Given the description of an element on the screen output the (x, y) to click on. 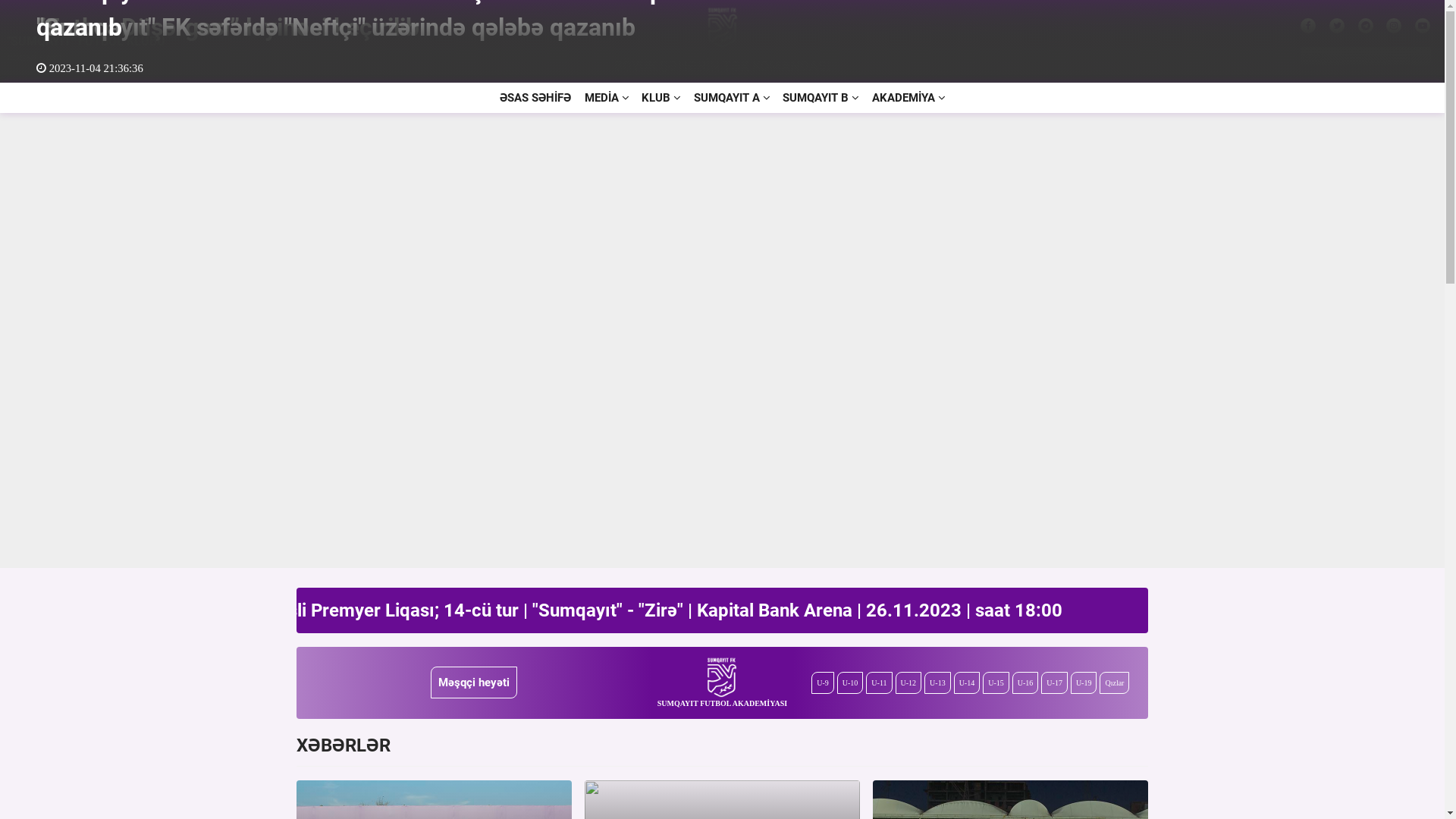
U-15 Element type: text (995, 682)
U-13 Element type: text (937, 682)
KLUB Element type: text (660, 97)
U-12 Element type: text (908, 682)
U-16 Element type: text (1025, 682)
U-11 Element type: text (878, 682)
SUMQAYIT B Element type: text (821, 97)
SUMQAYIT A Element type: text (731, 97)
U-10 Element type: text (850, 682)
U-14 Element type: text (966, 682)
"SUMQAYIT" FUTBOL KLUBU Element type: text (85, 41)
U-17 Element type: text (1054, 682)
U-9 Element type: text (822, 682)
U-19 Element type: text (1083, 682)
